Given the description of an element on the screen output the (x, y) to click on. 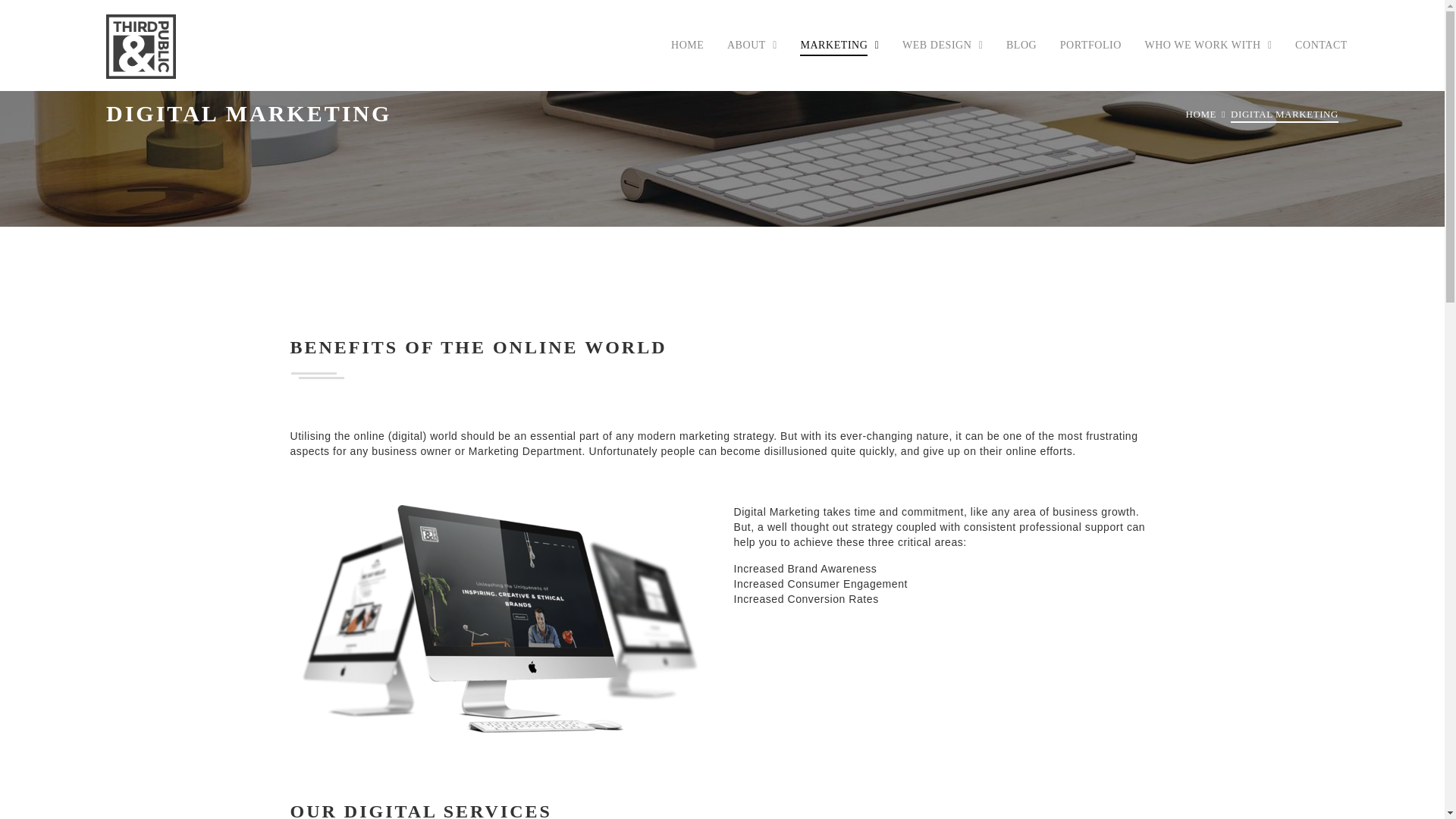
Startups (1228, 212)
Retainers (884, 182)
Creatives (1228, 182)
WEB DESIGN (942, 45)
GET A WEBSITE QUOTE (986, 212)
WHO WE WORK WITH (1207, 45)
Testimonials (812, 182)
Startup Packages (884, 242)
Web Design Services (986, 152)
Services Overview (884, 152)
